Given the description of an element on the screen output the (x, y) to click on. 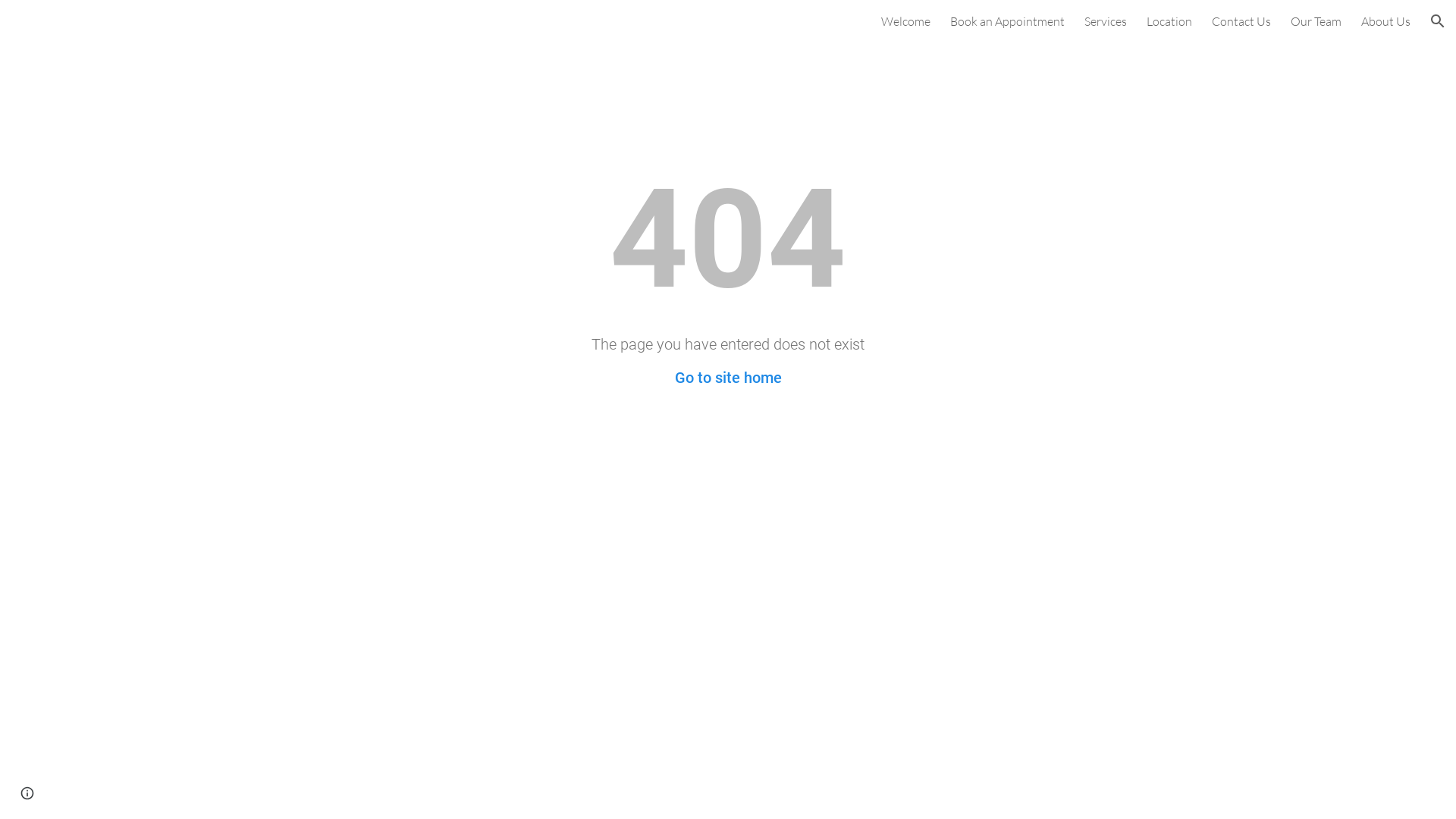
Location Element type: text (1169, 20)
Book an Appointment Element type: text (1007, 20)
About Us Element type: text (1385, 20)
Welcome Element type: text (905, 20)
Our Team Element type: text (1315, 20)
Services Element type: text (1105, 20)
Contact Us Element type: text (1240, 20)
Go to site home Element type: text (727, 377)
